Given the description of an element on the screen output the (x, y) to click on. 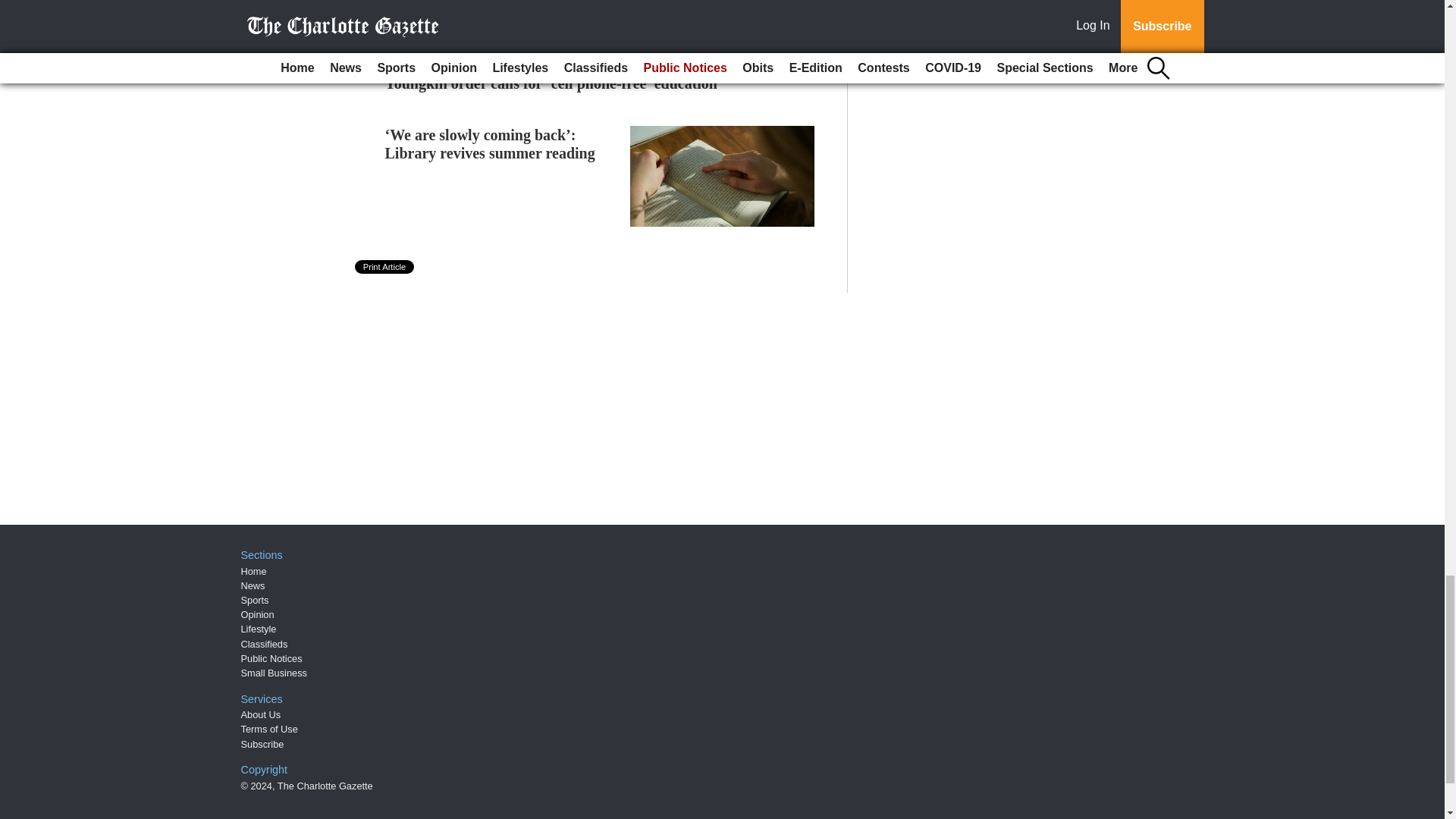
Print Article (384, 266)
